Given the description of an element on the screen output the (x, y) to click on. 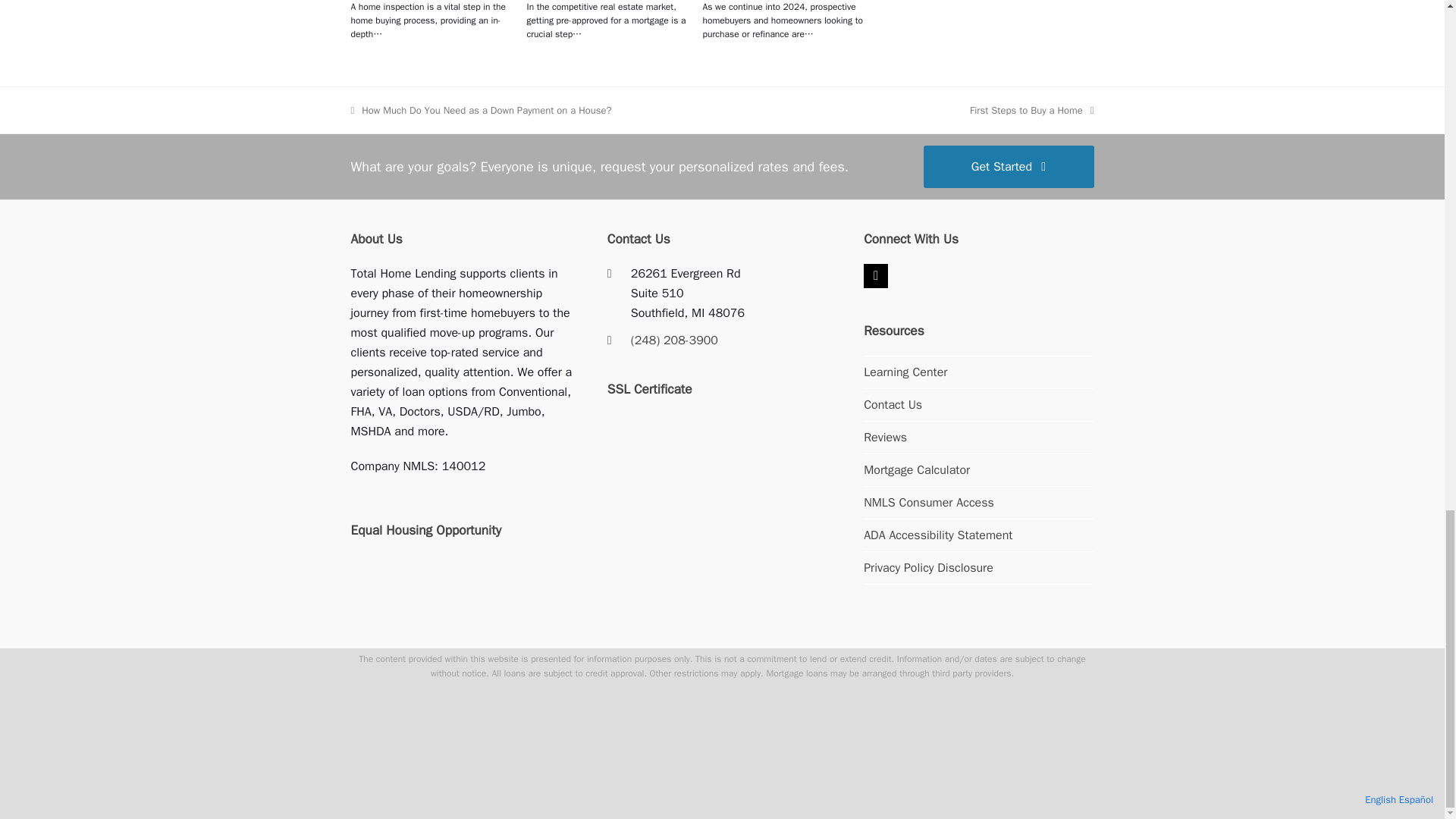
Learning Center (905, 371)
Facebook (875, 275)
